Given the description of an element on the screen output the (x, y) to click on. 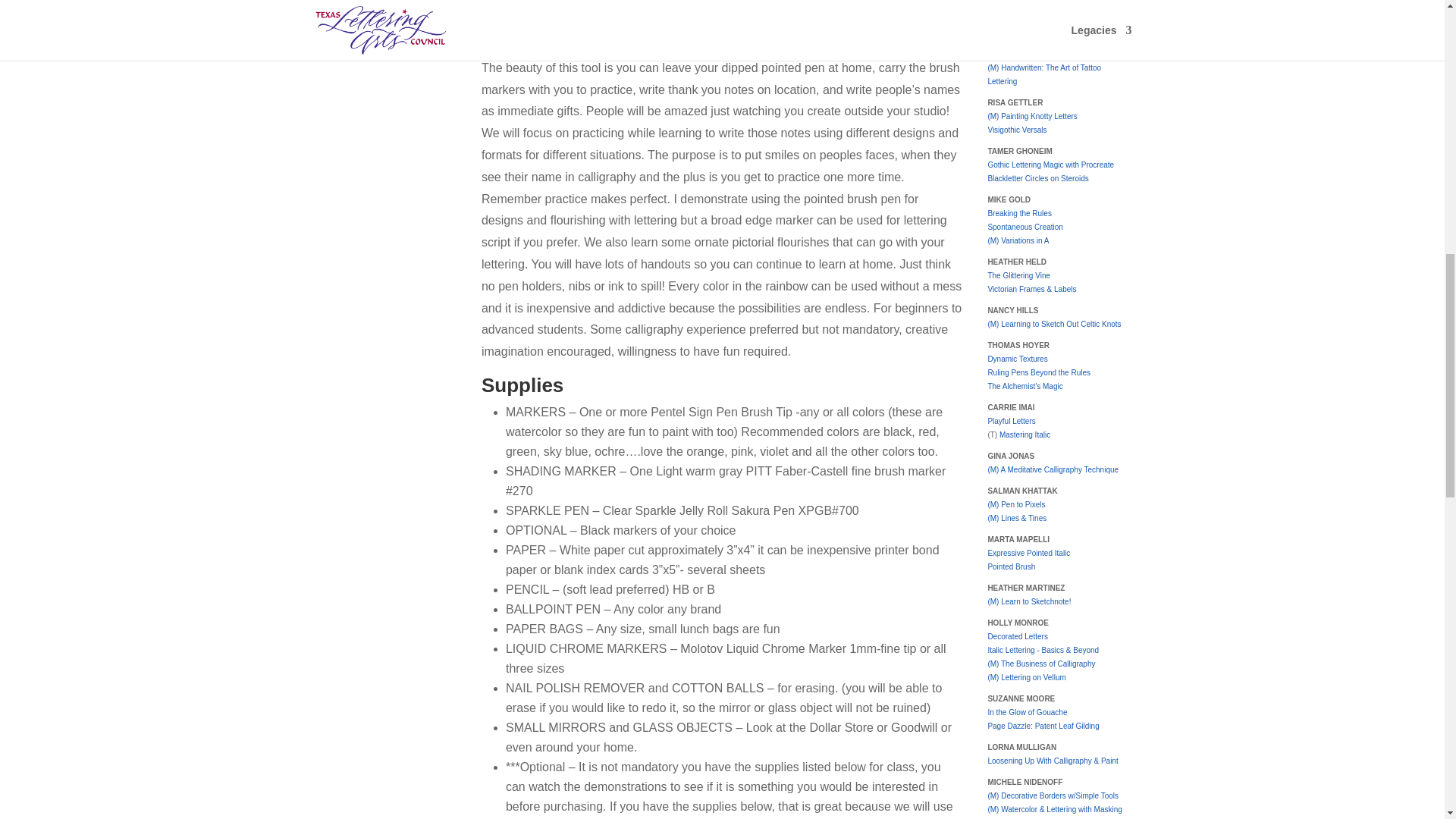
Visigothic Versals (1016, 130)
MINI-CLASS - Handwritten: The Art of Tattoo Lettering (1043, 74)
MINI CLASS Learn to Sketchnote! (1028, 601)
MINI-CLASS A Meditative Calligraphy Technique (1052, 470)
A Letter and a Rectangle (1028, 1)
The Glittering Vine with Heather Held (1018, 275)
Ben Shahn Lettering (1022, 32)
